Given the description of an element on the screen output the (x, y) to click on. 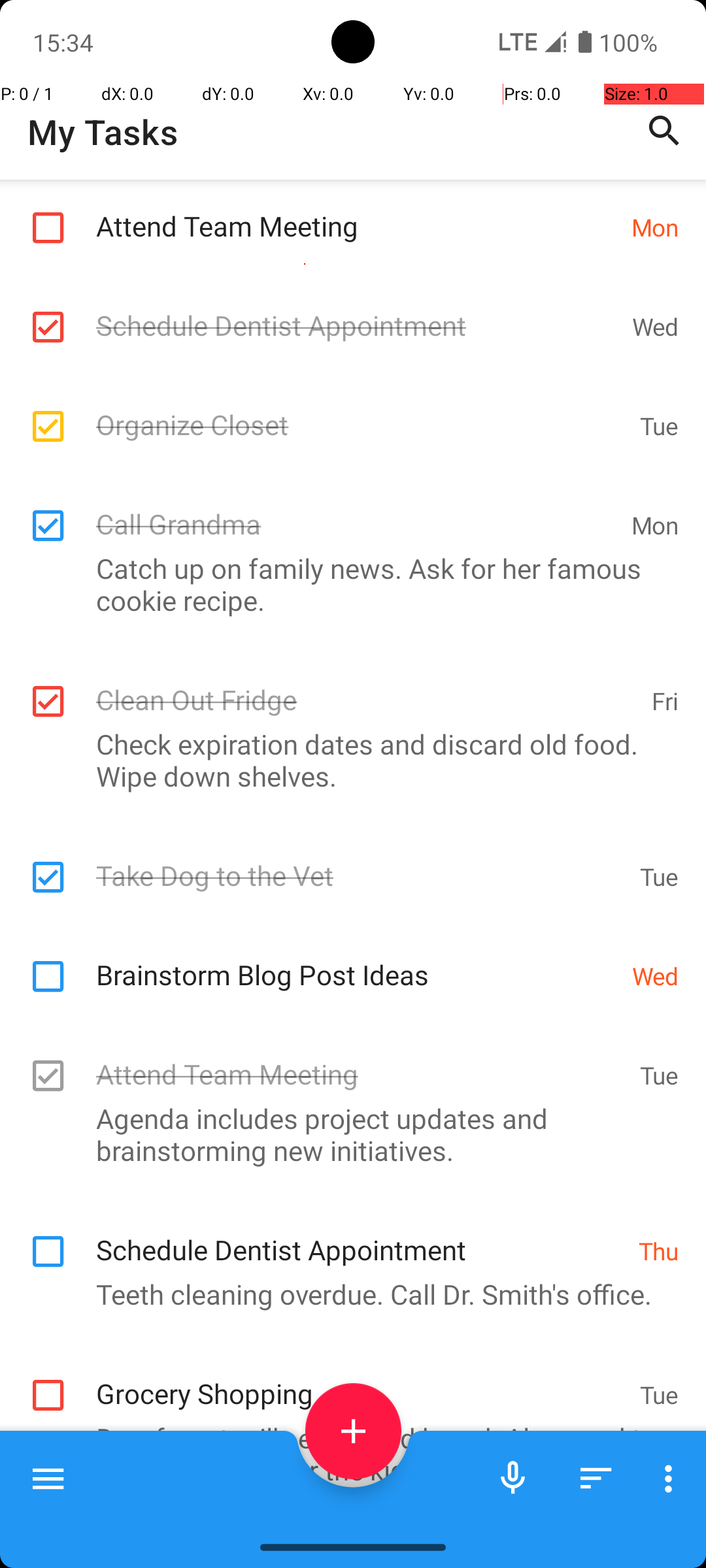
Catch up on family news. Ask for her famous cookie recipe. Element type: android.widget.TextView (346, 583)
